Given the description of an element on the screen output the (x, y) to click on. 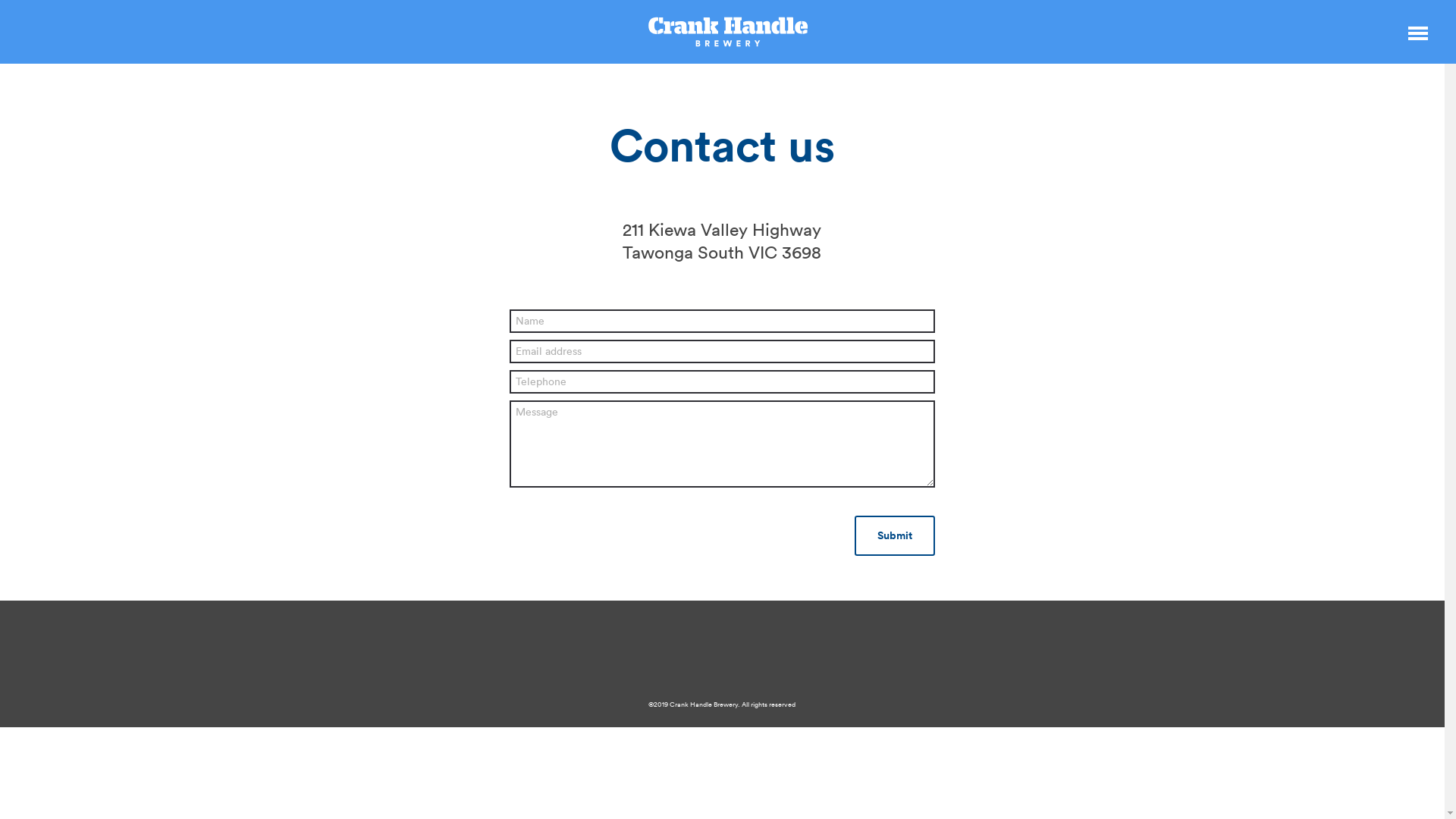
logo 1 Element type: text (727, 32)
Submit Element type: text (893, 535)
